Given the description of an element on the screen output the (x, y) to click on. 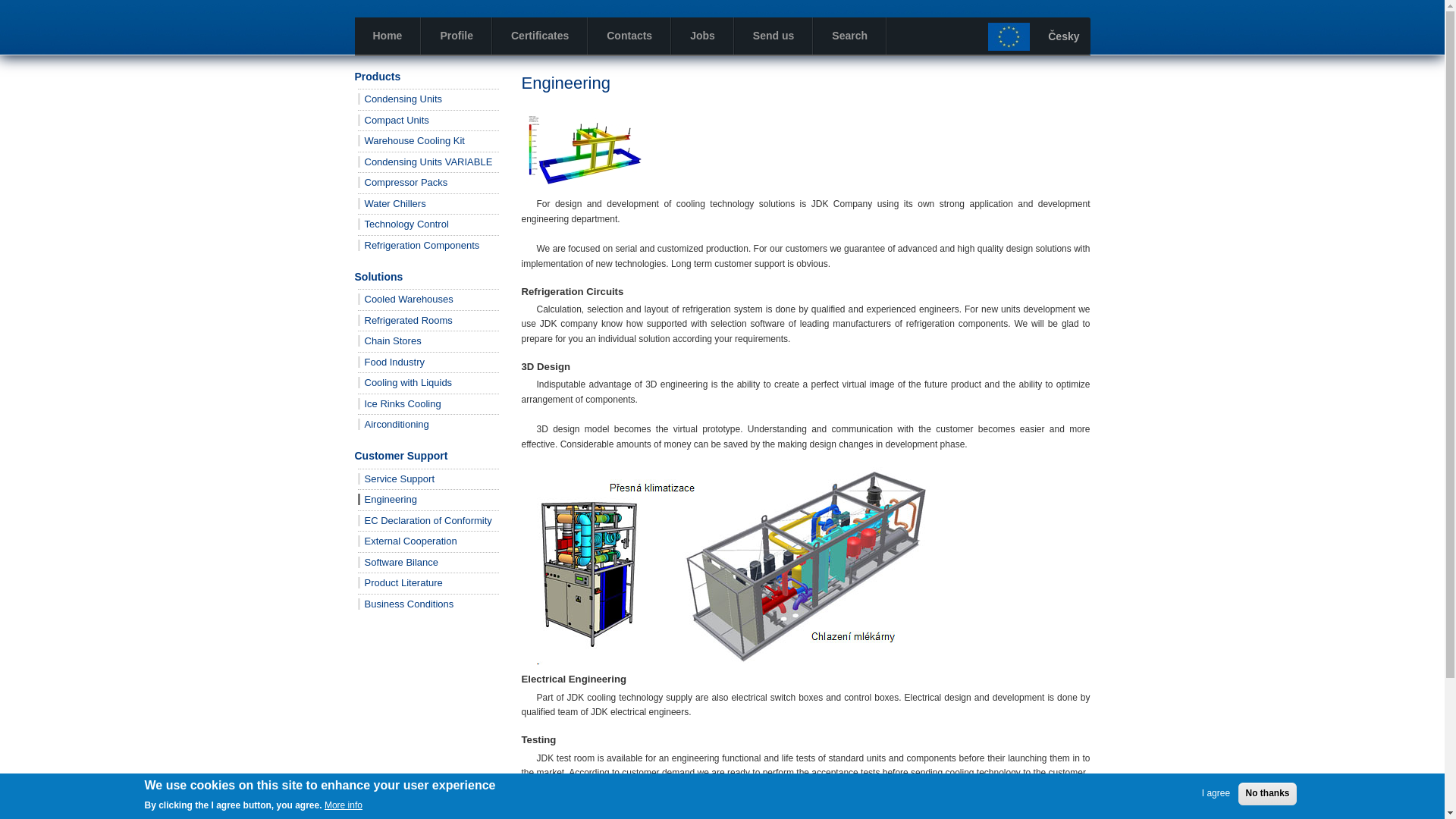
External Cooperation (407, 541)
Warehouse Cooling Kit (411, 140)
Cooled Warehouses (405, 298)
Search (849, 35)
Condensing Units (400, 98)
CAD Konstrukce (733, 565)
Product Literature (400, 582)
Condensing Units VARIABLE (425, 161)
Business Conditions (406, 603)
Water Chillers (392, 203)
EC Declaration of Conformity (425, 520)
Food Industry (391, 361)
Home (387, 35)
Compressor Packs (403, 182)
Chain Stores (390, 340)
